Given the description of an element on the screen output the (x, y) to click on. 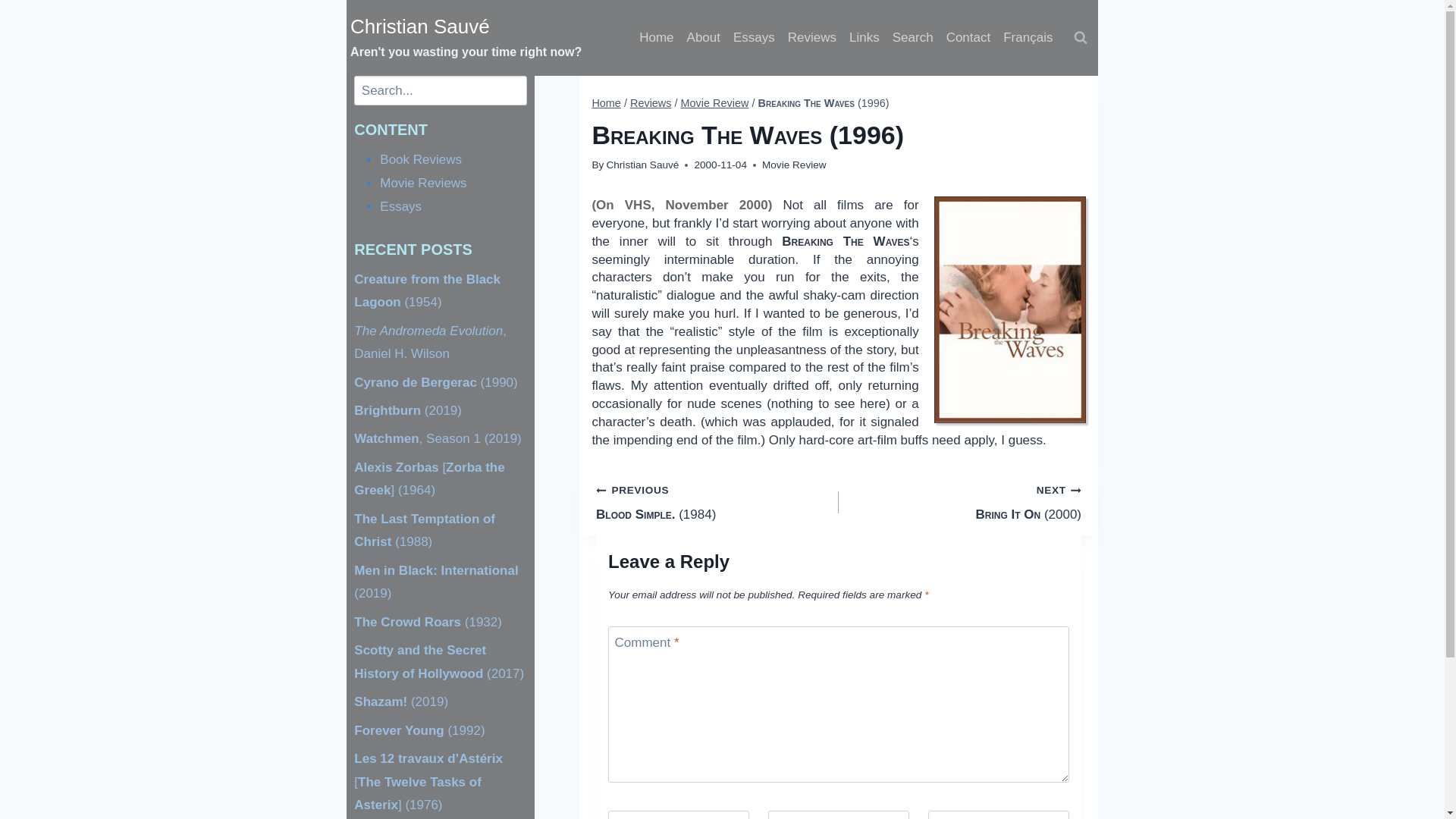
Home (656, 38)
Home (606, 102)
Book Reviews (420, 159)
Search (912, 38)
Essays (401, 206)
Movie Reviews (422, 183)
Reviews (650, 102)
Movie Review (715, 102)
Reviews (811, 38)
Links (864, 38)
